Given the description of an element on the screen output the (x, y) to click on. 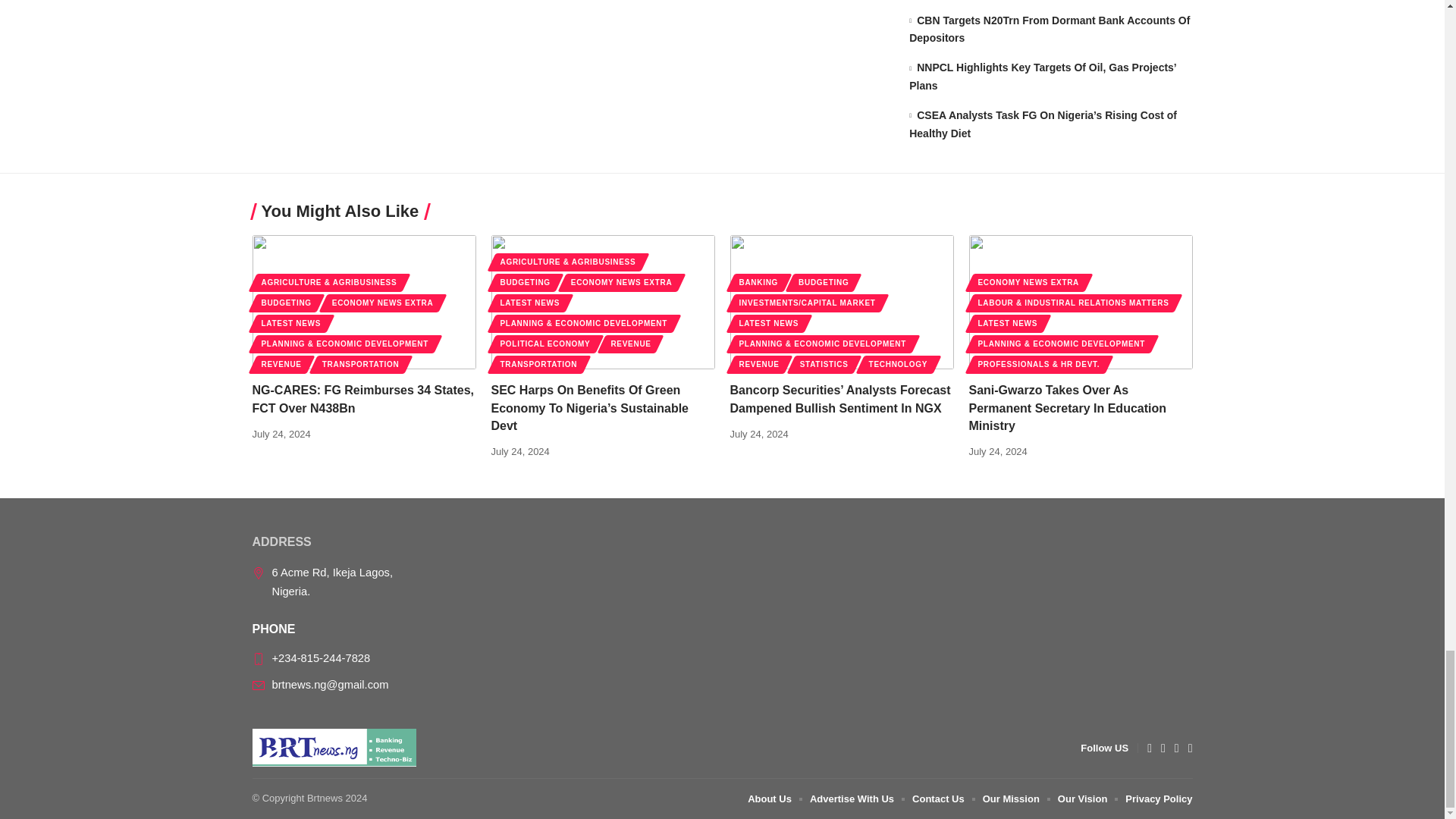
BRT-News (333, 747)
NG-CARES: FG Reimburses 34 States, FCT Over N438Bn (363, 302)
